Given the description of an element on the screen output the (x, y) to click on. 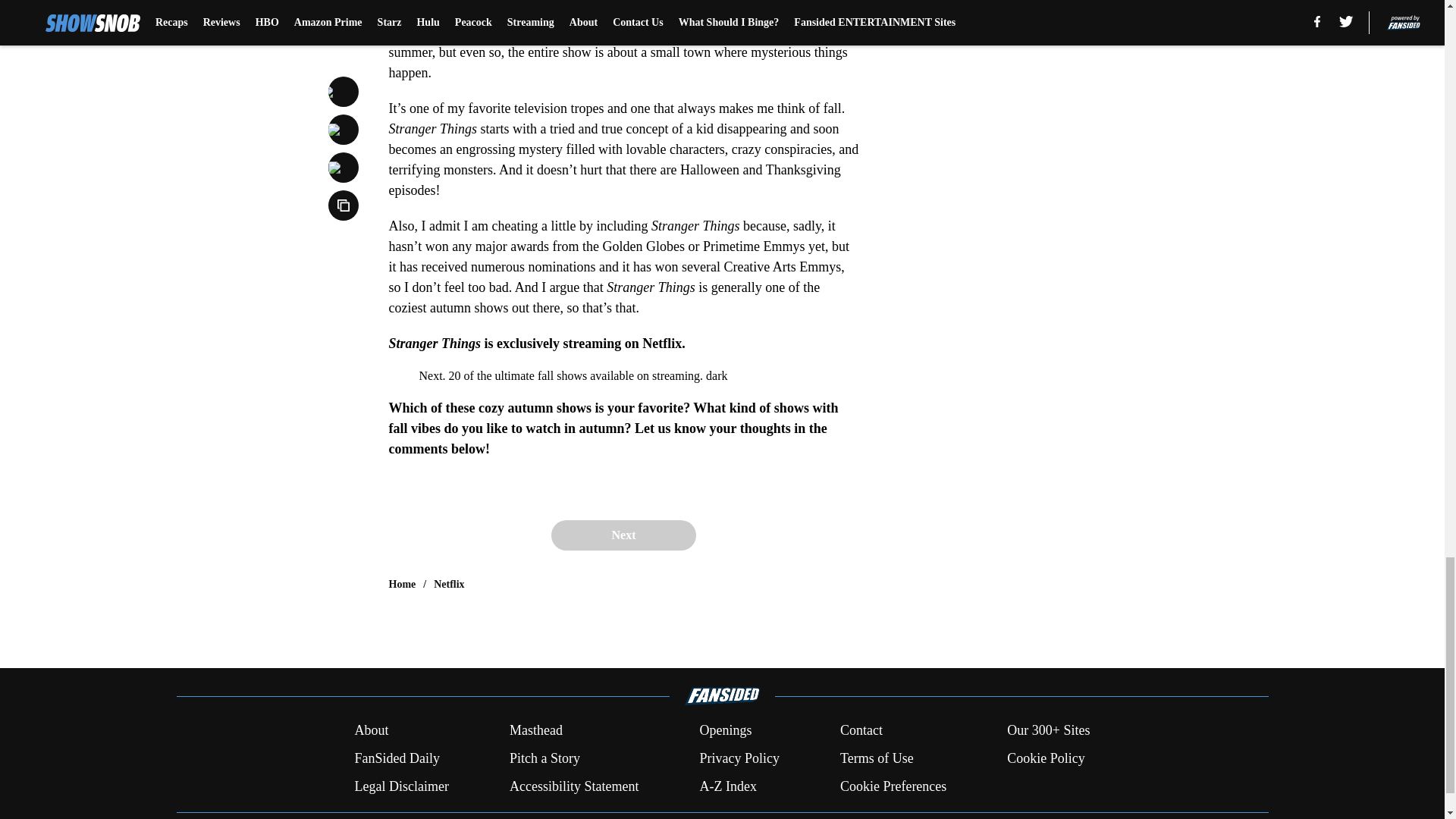
About (370, 730)
Home (401, 584)
FanSided Daily (396, 758)
Masthead (535, 730)
Contact (861, 730)
Terms of Use (877, 758)
Openings (724, 730)
Privacy Policy (738, 758)
Pitch a Story (544, 758)
Netflix (448, 584)
Next (622, 535)
Stranger Things (622, 9)
